Given the description of an element on the screen output the (x, y) to click on. 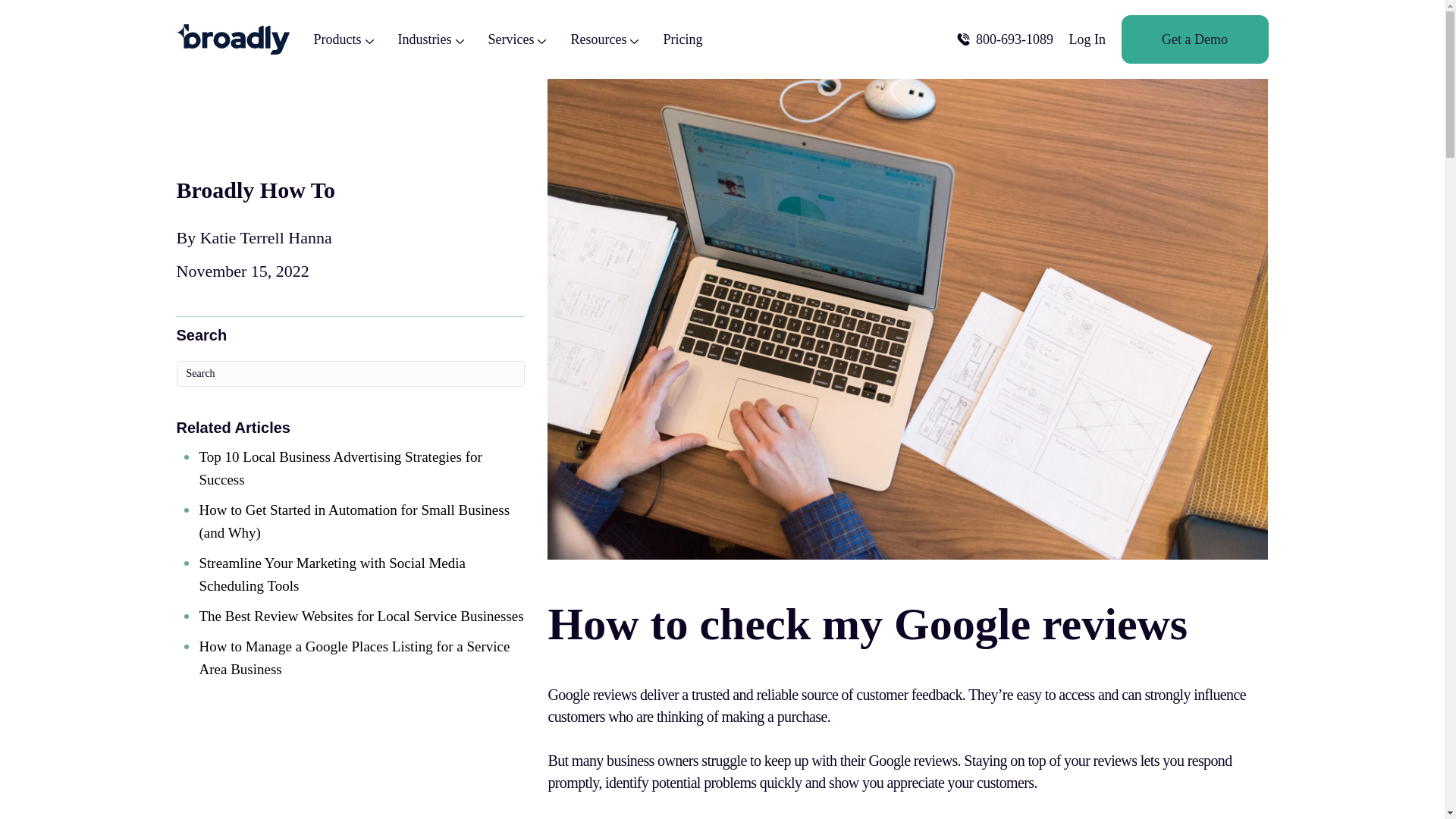
Products (344, 38)
Top 10 Local Business Advertising Strategies for Success (339, 467)
Services (517, 38)
Pricing (681, 38)
Industries (430, 38)
Get a Demo (1194, 39)
Search (350, 373)
The Best Review Websites for Local Service Businesses (360, 616)
Log In (1087, 39)
